Given the description of an element on the screen output the (x, y) to click on. 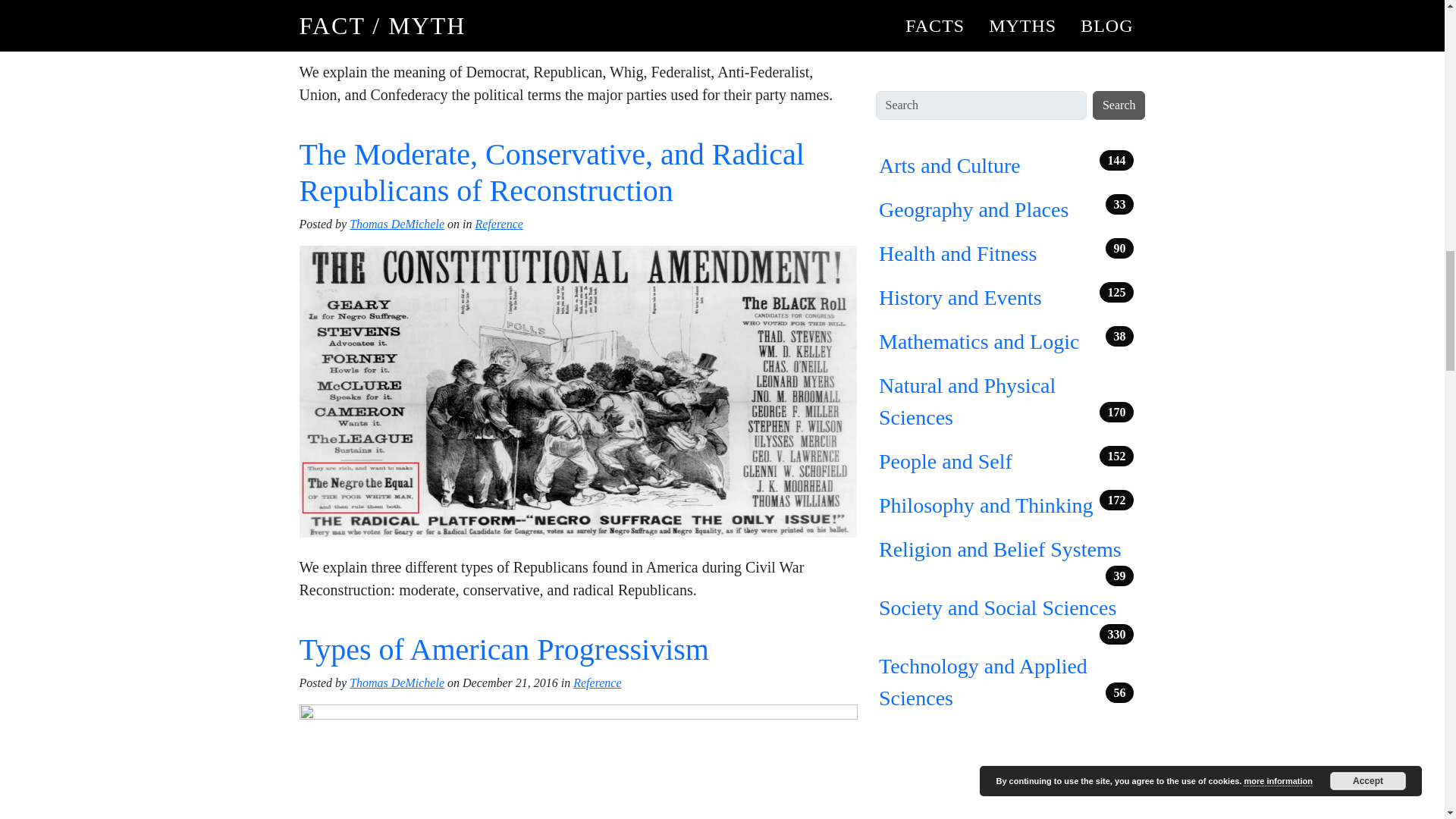
Reference (597, 682)
Thomas DeMichele (396, 223)
Types of American Progressivism (502, 649)
Posts by Thomas DeMichele (396, 223)
Thomas DeMichele (396, 682)
Posts by Thomas DeMichele (396, 682)
Reference (498, 223)
